Given the description of an element on the screen output the (x, y) to click on. 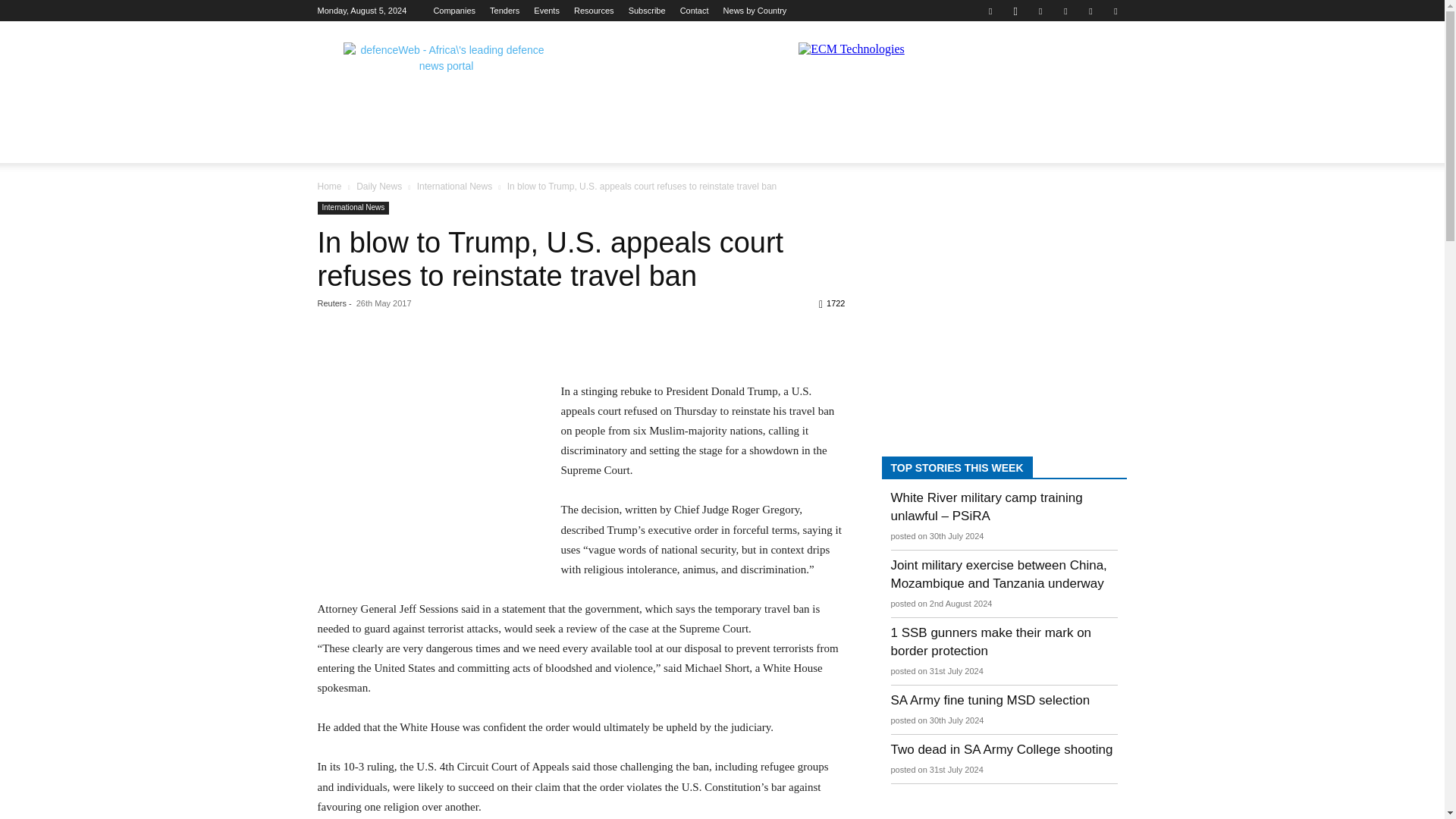
Linkedin (1040, 10)
Facebook (989, 10)
Mail (1065, 10)
Instagram (1015, 10)
Twitter (1090, 10)
Youtube (1114, 10)
